Given the description of an element on the screen output the (x, y) to click on. 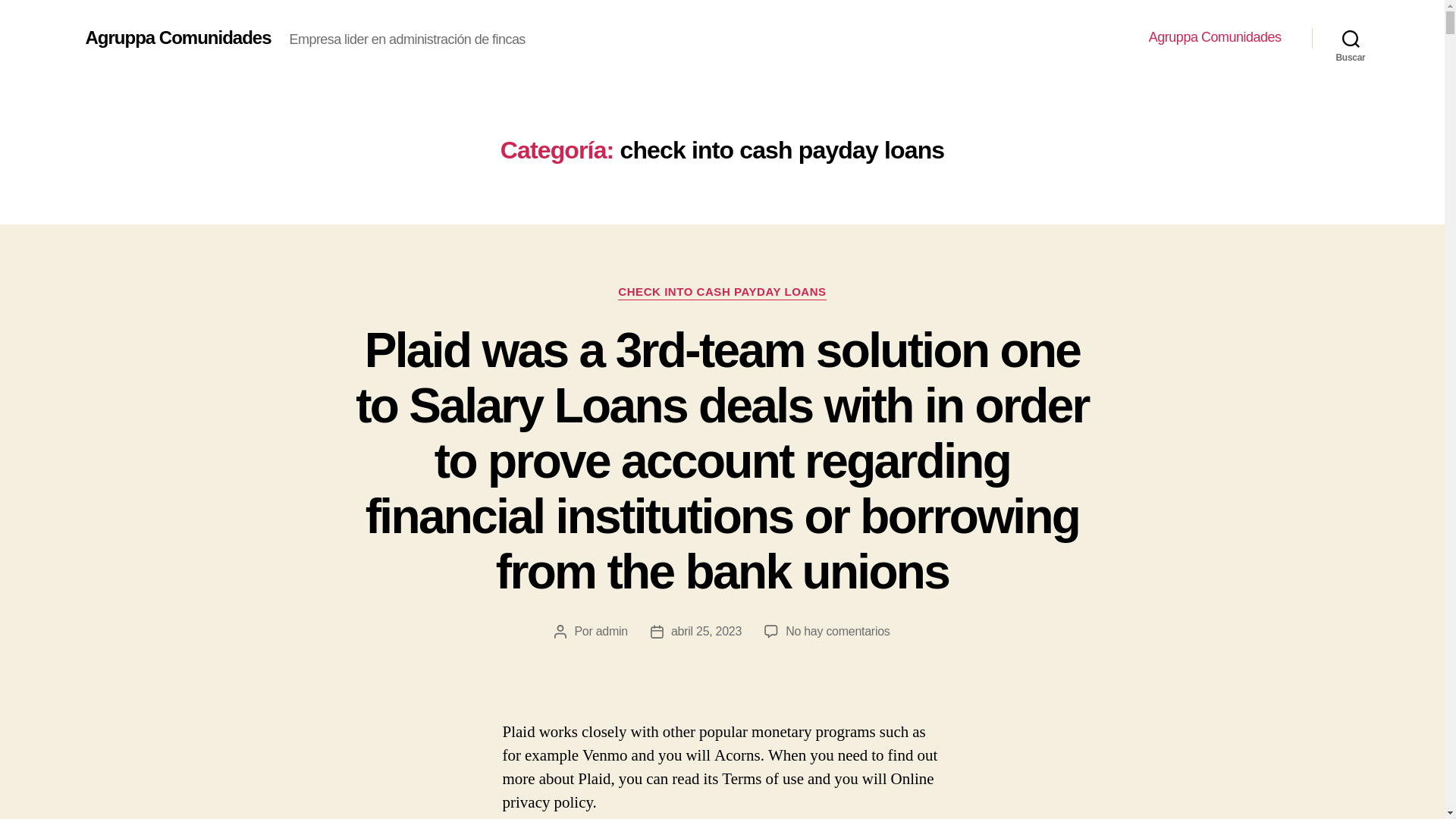
abril 25, 2023 (706, 631)
admin (611, 631)
CHECK INTO CASH PAYDAY LOANS (721, 292)
Buscar (1350, 37)
Agruppa Comunidades (1214, 37)
Agruppa Comunidades (177, 37)
